Given the description of an element on the screen output the (x, y) to click on. 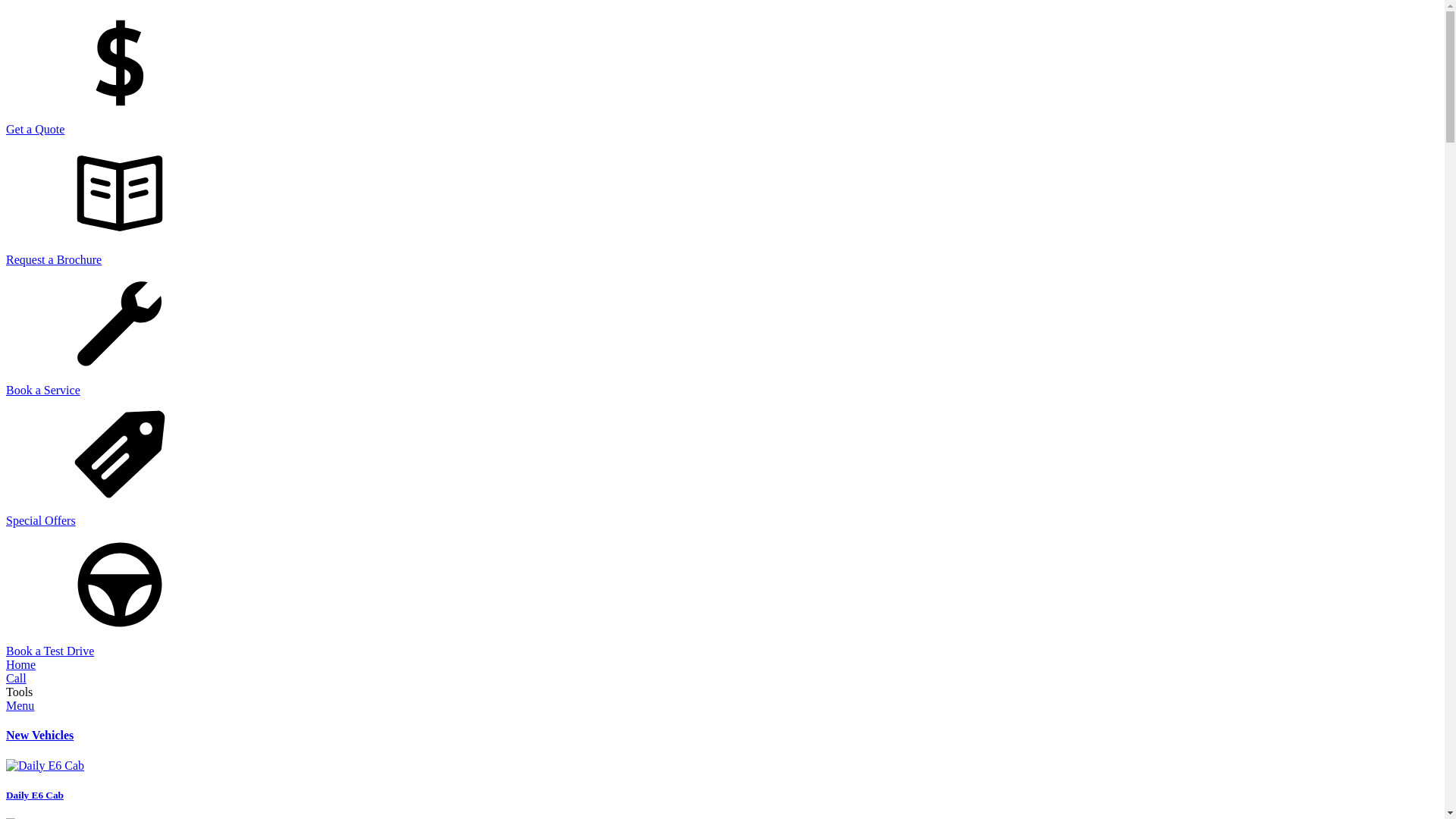
Home Element type: text (20, 664)
Menu Element type: text (20, 705)
Book a Test Drive Element type: text (722, 592)
Book a Service Element type: text (722, 331)
New Vehicles Element type: text (39, 734)
Daily E6 Cab Element type: text (722, 780)
Request a Brochure Element type: text (722, 201)
Special Offers Element type: text (722, 462)
Call Element type: text (16, 677)
Tools Element type: text (19, 691)
Get a Quote Element type: text (722, 71)
